Given the description of an element on the screen output the (x, y) to click on. 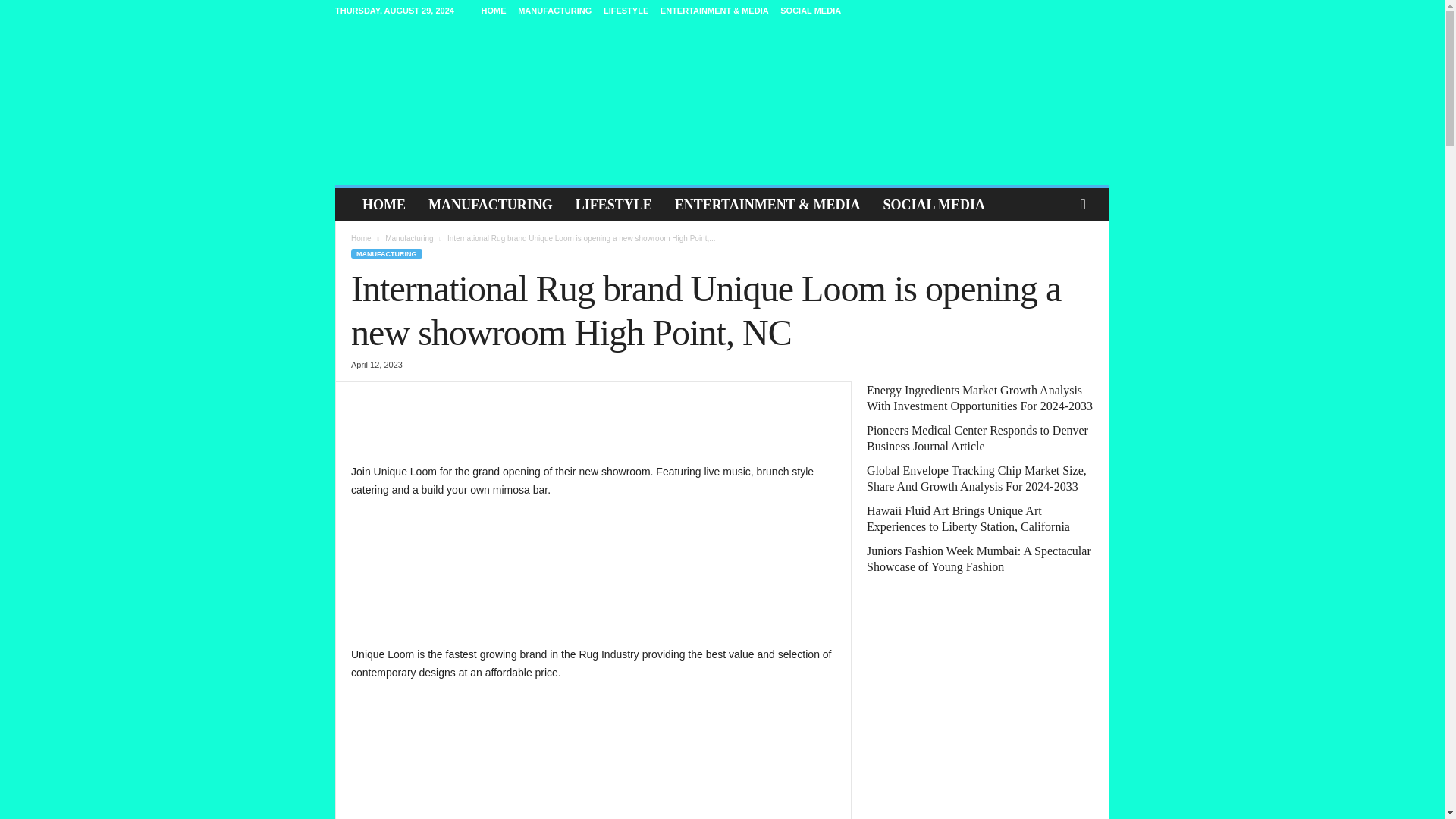
SOCIAL MEDIA (932, 204)
LIFESTYLE (625, 10)
Home (360, 238)
MANUFACTURING (386, 253)
SOCIAL MEDIA (810, 10)
HOME (383, 204)
LIFESTYLE (613, 204)
MANUFACTURING (554, 10)
MANUFACTURING (490, 204)
Juvenile Pre Post (721, 103)
